Given the description of an element on the screen output the (x, y) to click on. 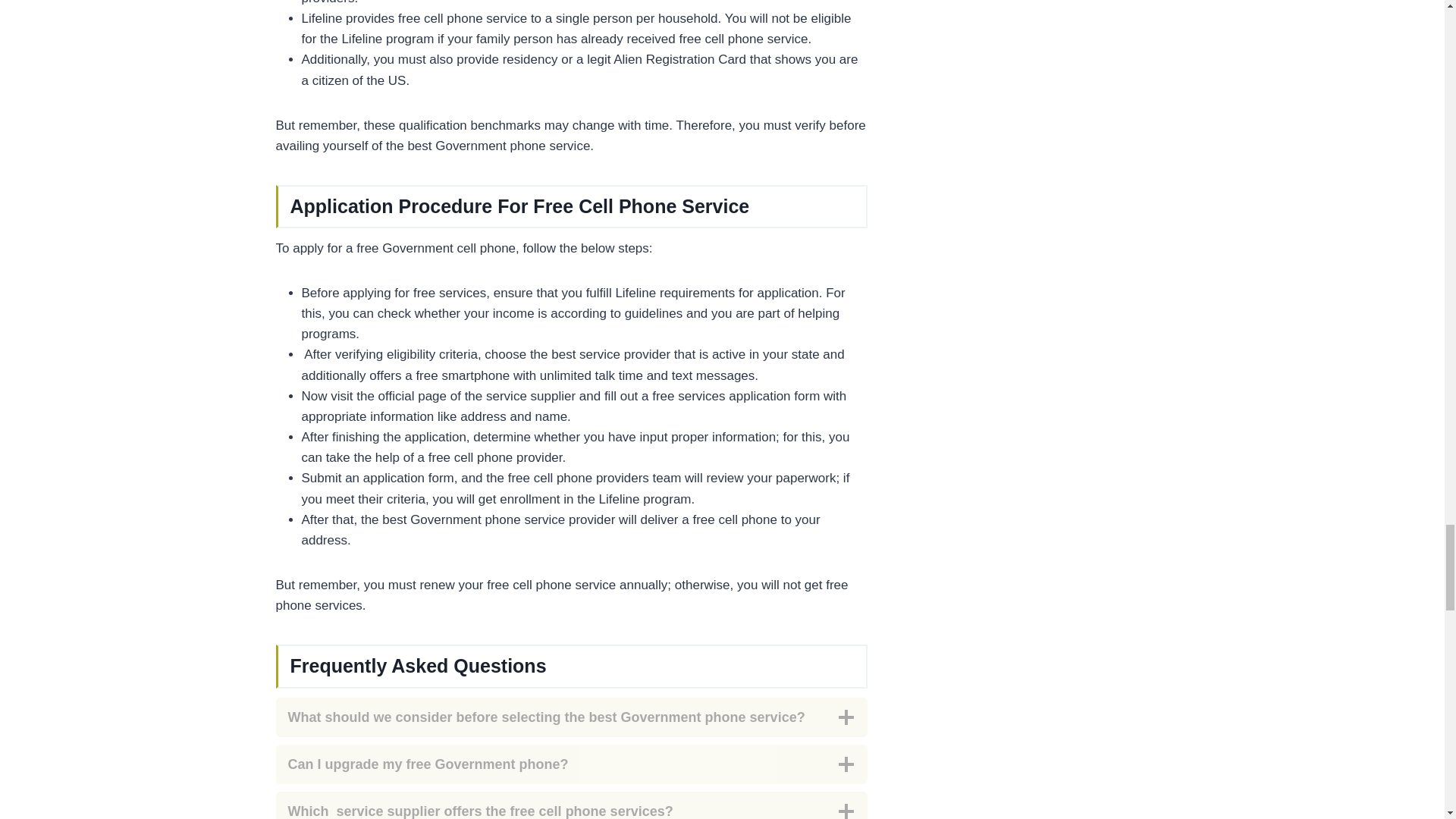
Can I upgrade my free Government phone? (571, 763)
